Given the description of an element on the screen output the (x, y) to click on. 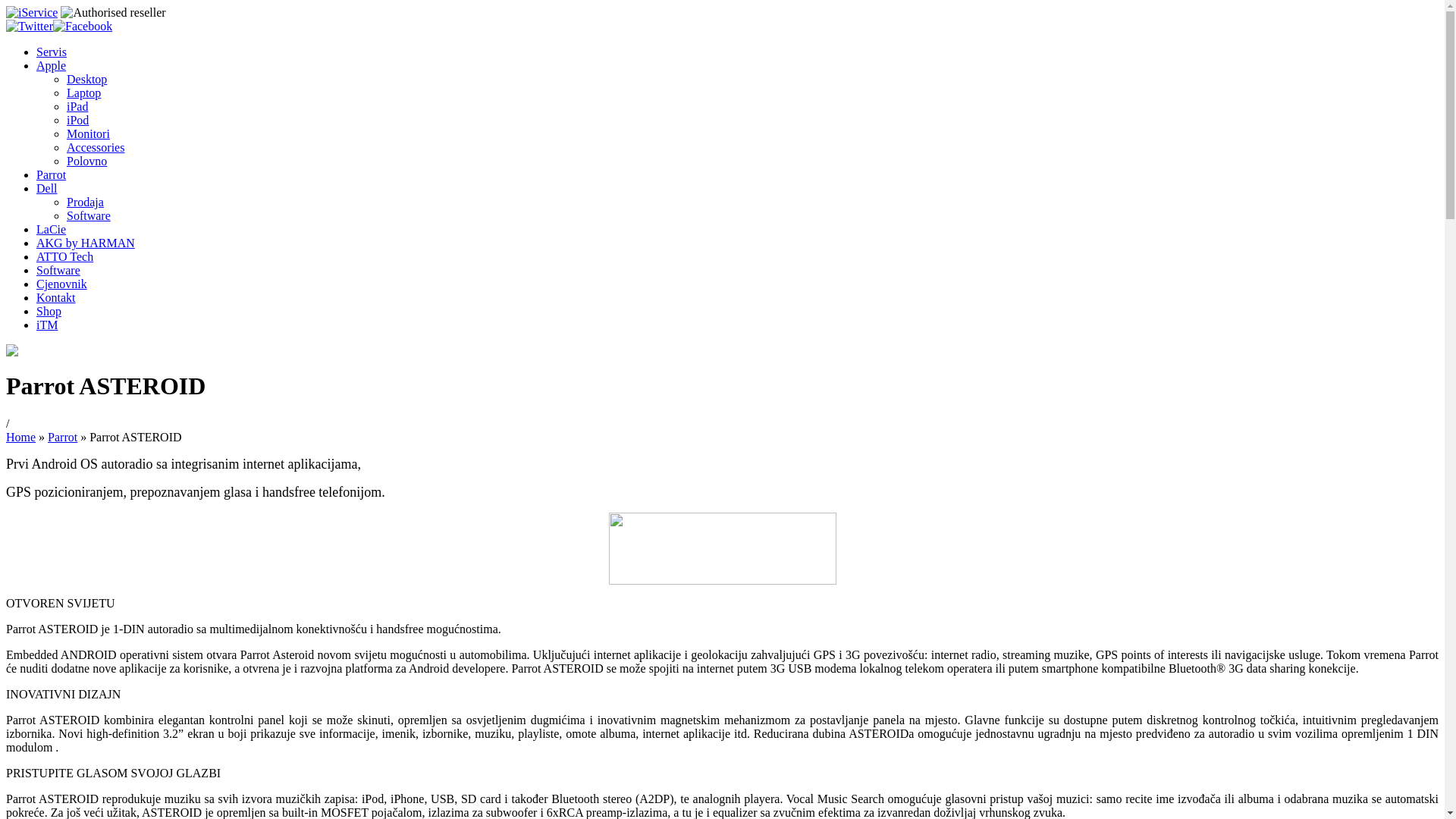
Home Element type: text (20, 436)
LaCie Element type: text (50, 228)
iPod Element type: text (77, 119)
Dell Element type: text (46, 188)
Monitori Element type: text (87, 133)
Apple Element type: text (50, 65)
ATTO Tech Element type: text (64, 256)
Desktop Element type: text (86, 78)
iPad Element type: text (76, 106)
Cjenovnik Element type: text (61, 283)
Software Element type: text (88, 215)
Software Element type: text (58, 269)
Parrot_Asteroid_01e Element type: hover (721, 548)
iTM Element type: text (46, 324)
Servis Element type: text (51, 51)
Shop Element type: text (48, 310)
AKG by HARMAN Element type: text (85, 242)
Parrot Element type: text (50, 174)
Kontakt Element type: text (55, 297)
Parrot Element type: text (62, 436)
Laptop Element type: text (83, 92)
Prodaja Element type: text (84, 201)
Polovno Element type: text (86, 160)
Accessories Element type: text (95, 147)
